Given the description of an element on the screen output the (x, y) to click on. 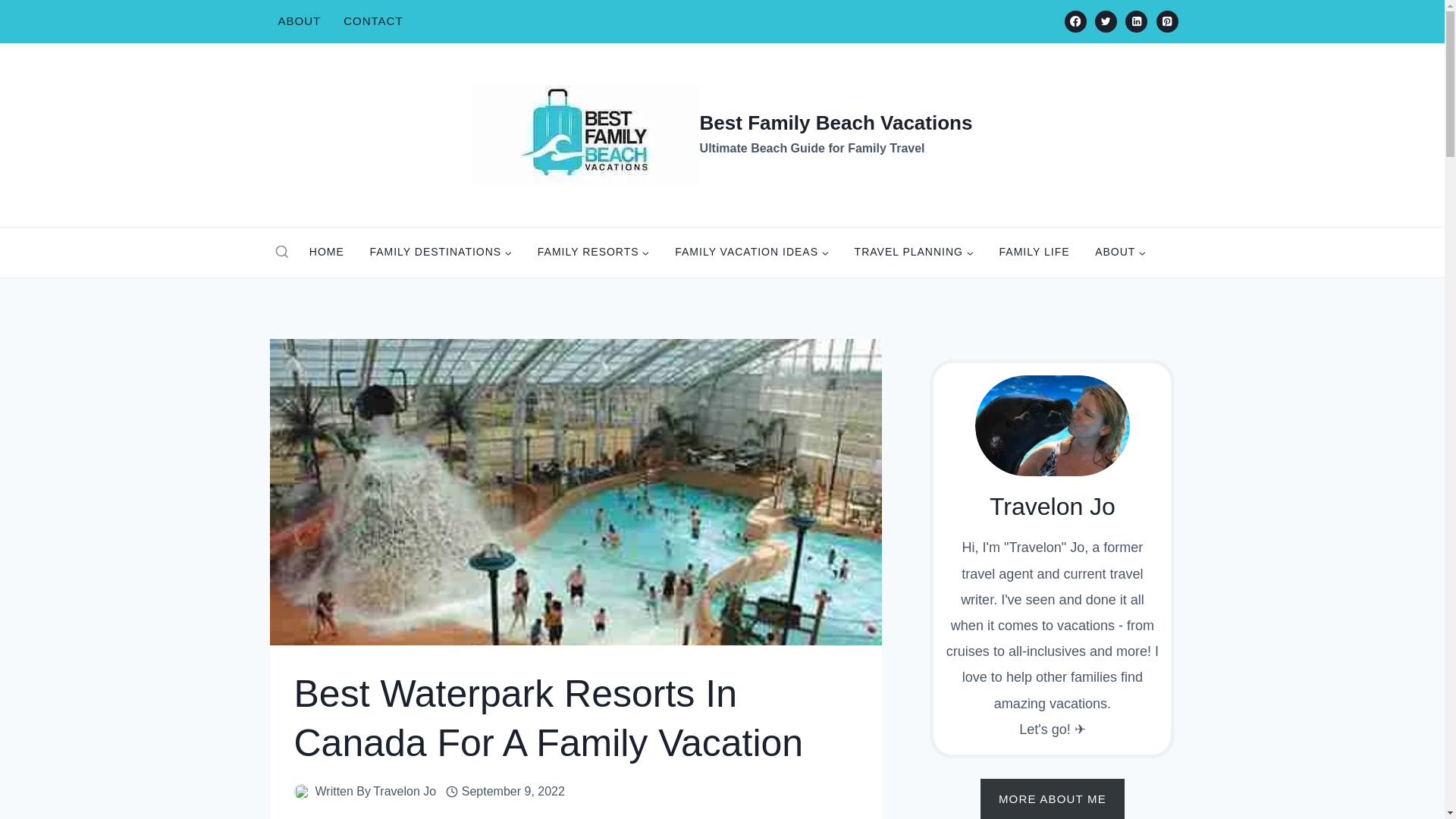
FAMILY RESORTS (593, 251)
ABOUT (299, 21)
FAMILY DESTINATIONS (440, 251)
TRAVEL PLANNING (914, 251)
HOME (326, 251)
FAMILY VACATION IDEAS (751, 251)
Travel Planning (914, 251)
FAMILY LIFE (1035, 251)
CONTACT (372, 21)
